Given the description of an element on the screen output the (x, y) to click on. 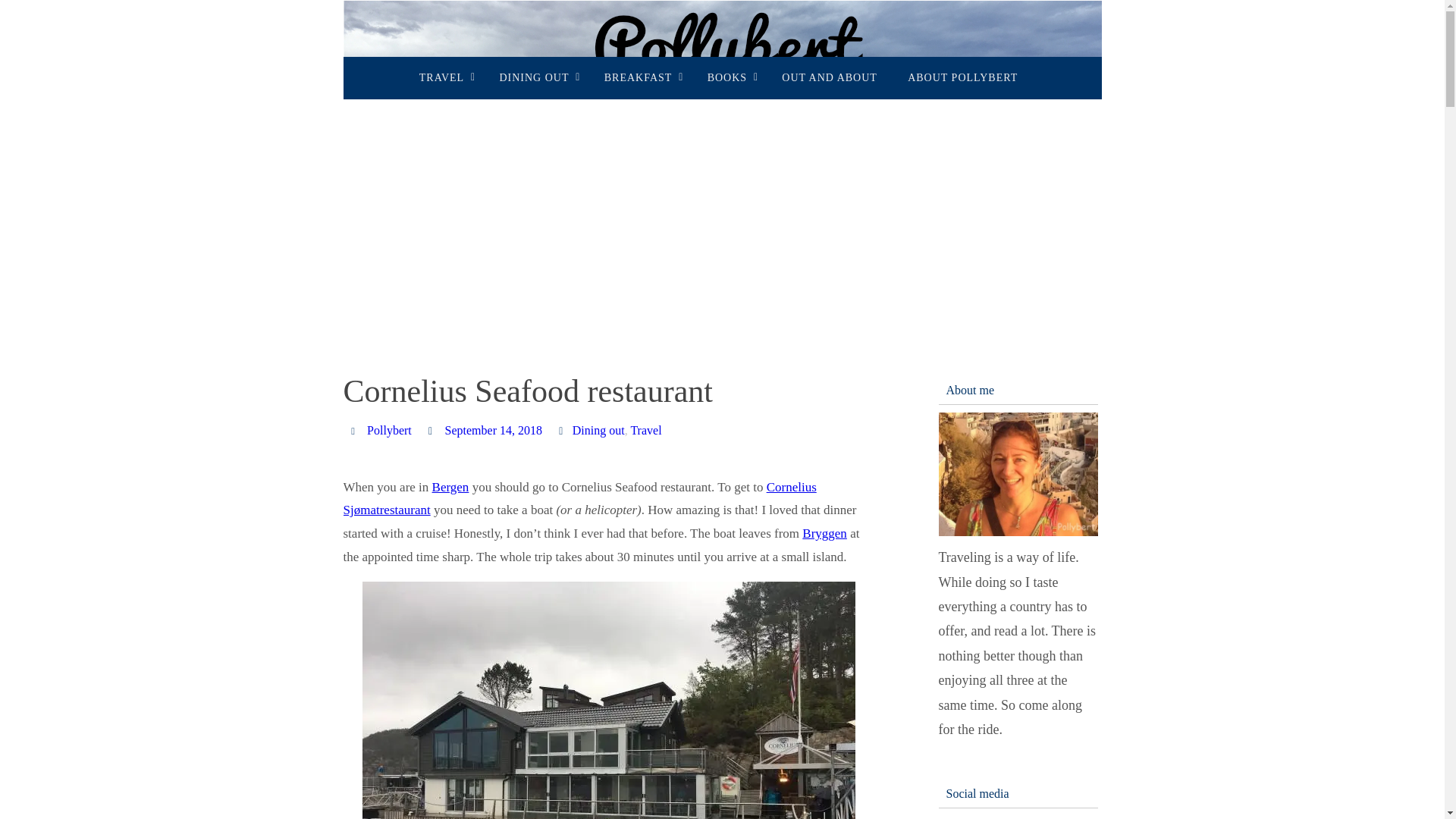
living to the fullest (721, 75)
Date (432, 430)
TRAVEL (443, 77)
View all posts by Pollybert (389, 430)
Categories (562, 430)
Author  (355, 430)
